Given the description of an element on the screen output the (x, y) to click on. 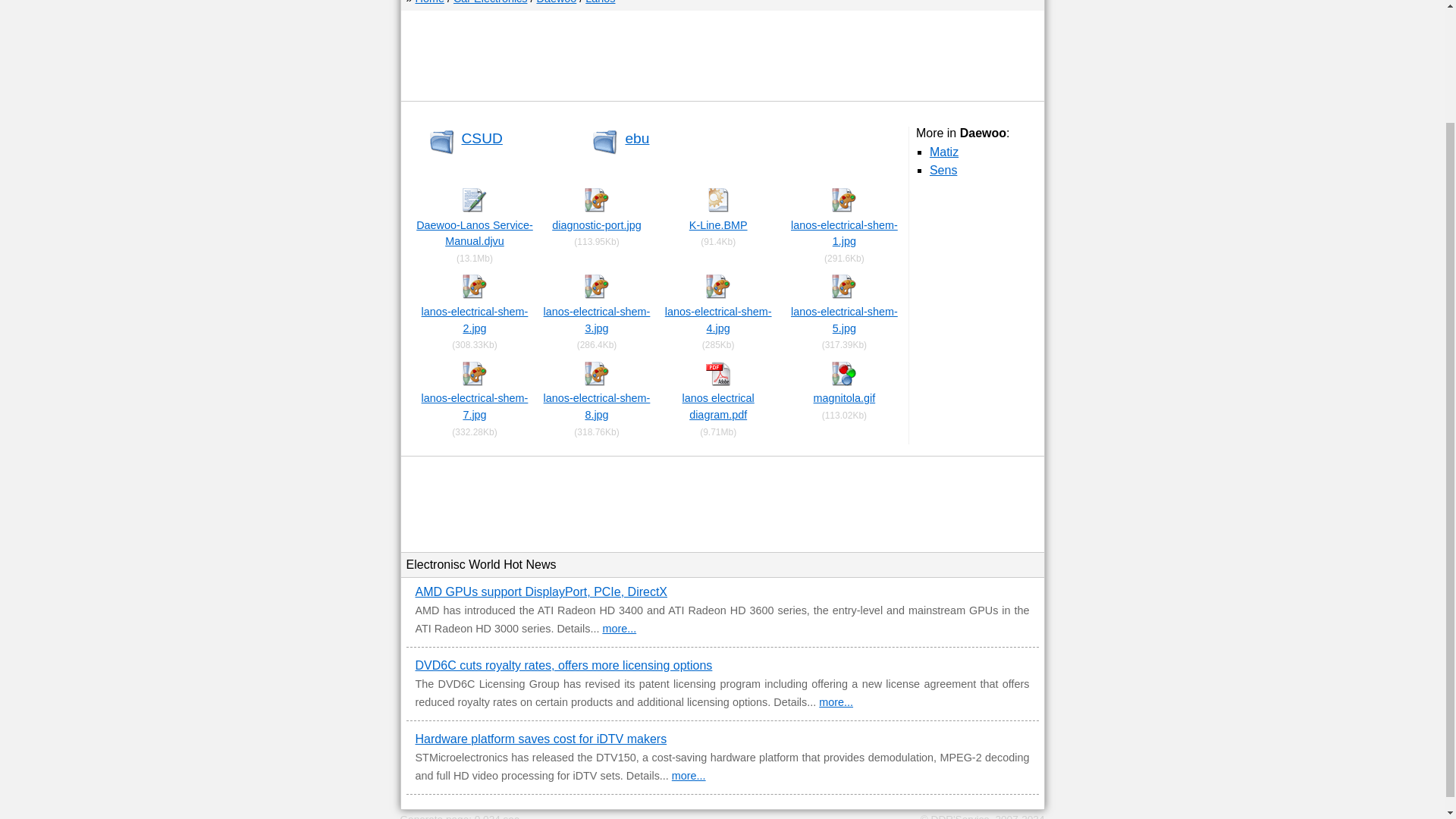
lanos-electrical-shem-4.jpg (718, 319)
Advertisement (721, 59)
diagnostic-port.jpg (596, 224)
Download lanos-electrical-shem-2.jpg (475, 319)
Car Electronics (489, 2)
Download lanos-electrical-shem-2.jpg (474, 295)
CSUD (481, 138)
lanos-electrical-shem-8.jpg (596, 406)
Download lanos-electrical-shem-3.jpg (596, 319)
Download lanos-electrical-shem-4.jpg (718, 319)
Download lanos-electrical-shem-1.jpg (844, 233)
Daewoo-Lanos Service-Manual.djvu (474, 233)
Download diagnostic-port.jpg (595, 208)
ebu (636, 138)
lanos-electrical-shem-7.jpg (475, 406)
